Given the description of an element on the screen output the (x, y) to click on. 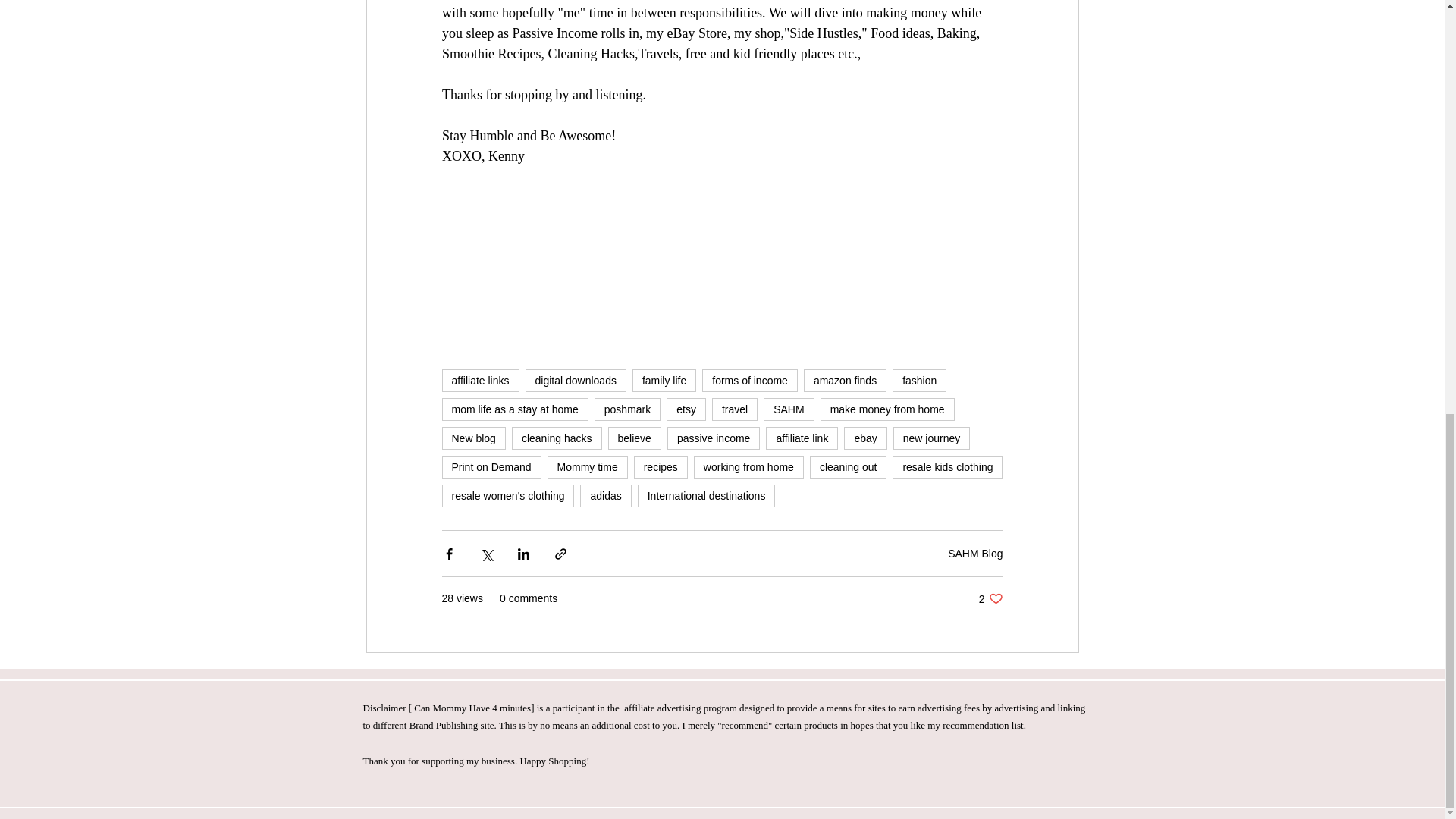
digital downloads (575, 380)
New blog (473, 437)
forms of income (749, 380)
fashion (919, 380)
cleaning hacks (557, 437)
affiliate links (479, 380)
ebay (865, 437)
SAHM (787, 409)
affiliate link (801, 437)
believe (634, 437)
